Given the description of an element on the screen output the (x, y) to click on. 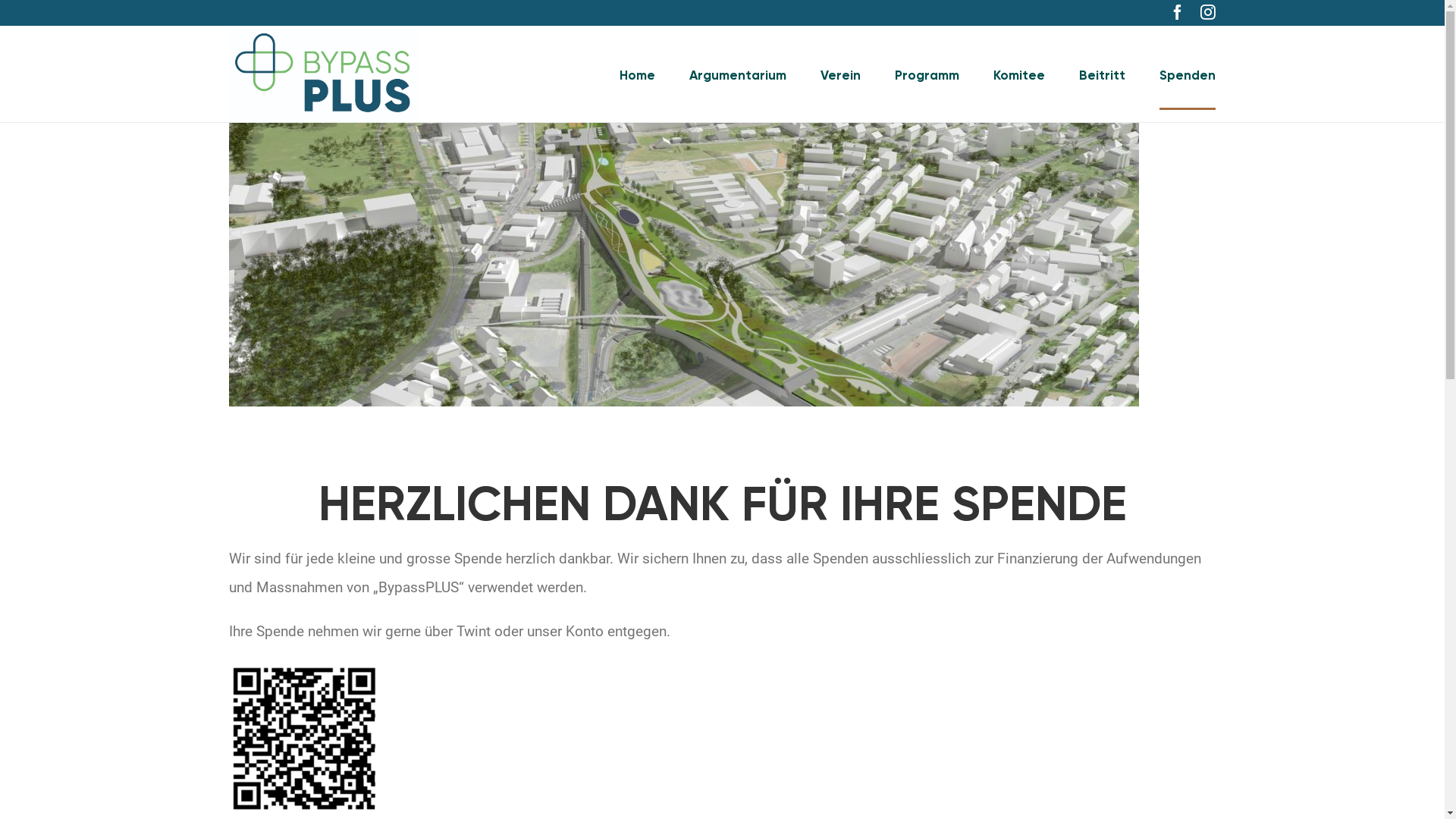
Spenden Element type: text (1186, 73)
Verein Element type: text (840, 73)
Beitritt Element type: text (1101, 73)
Programm Element type: text (926, 73)
Argumentarium Element type: text (736, 73)
Home Element type: text (636, 73)
Komitee Element type: text (1018, 73)
